Given the description of an element on the screen output the (x, y) to click on. 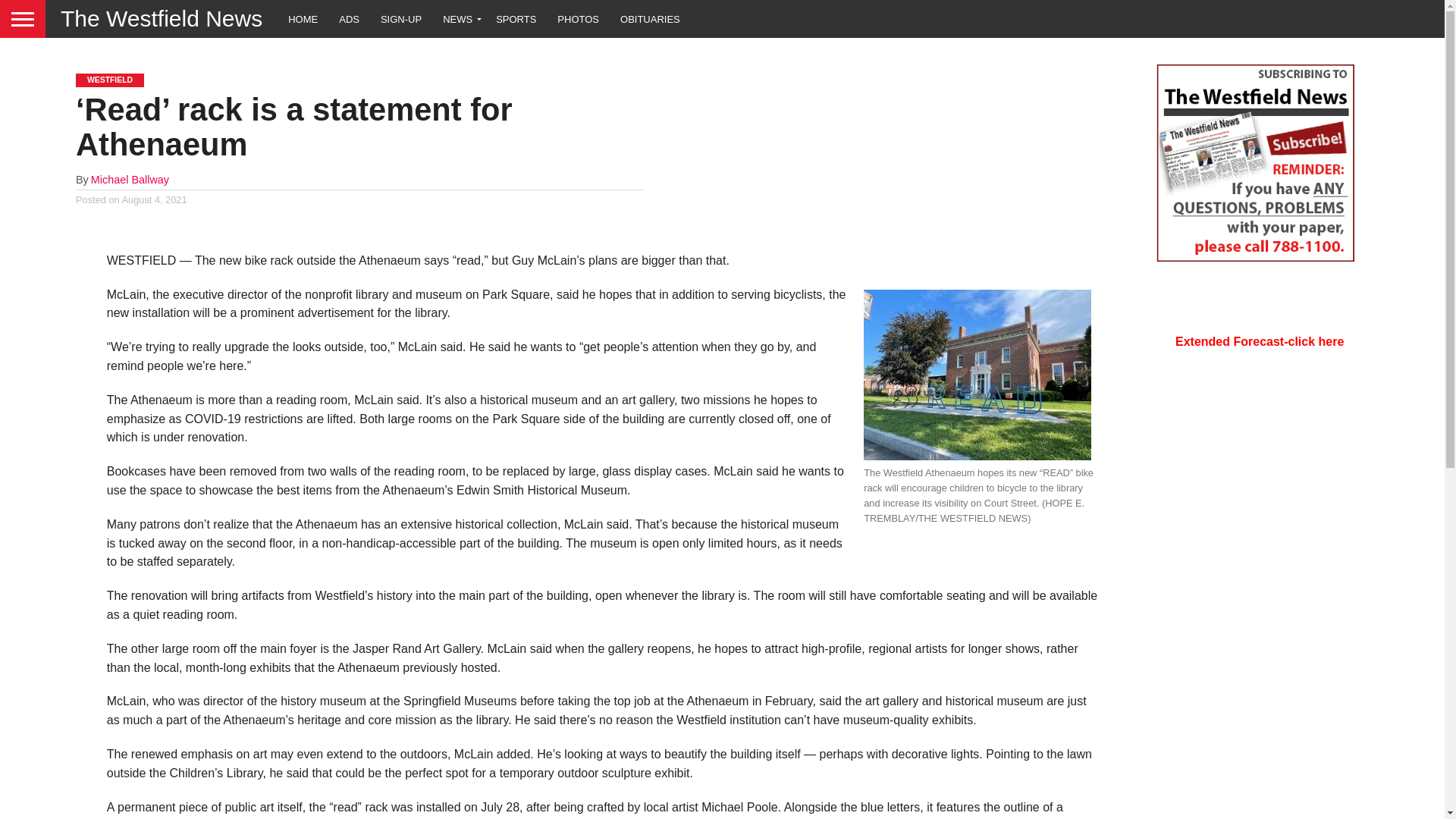
SIGN-UP (400, 18)
Posts by Michael Ballway (129, 179)
ADS (349, 18)
HOME (303, 18)
NEWS (458, 18)
The Westfield News (153, 18)
